Given the description of an element on the screen output the (x, y) to click on. 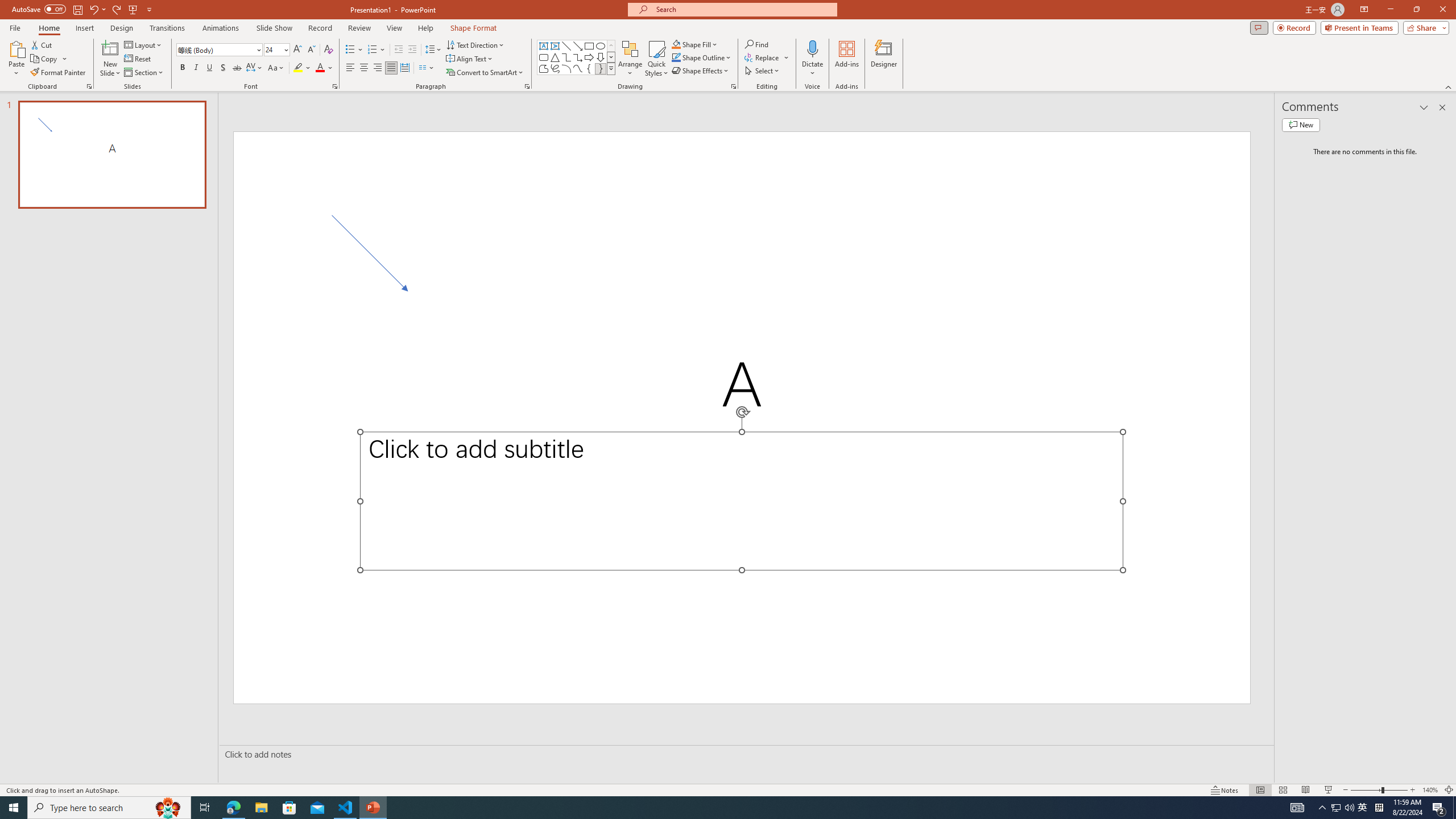
Shapes (611, 68)
Text Box (543, 45)
Distributed (404, 67)
Shape Effects (700, 69)
Rectangle: Rounded Corners (543, 57)
Freeform: Scribble (554, 68)
Columns (426, 67)
Connector: Elbow Arrow (577, 57)
Find... (756, 44)
